Given the description of an element on the screen output the (x, y) to click on. 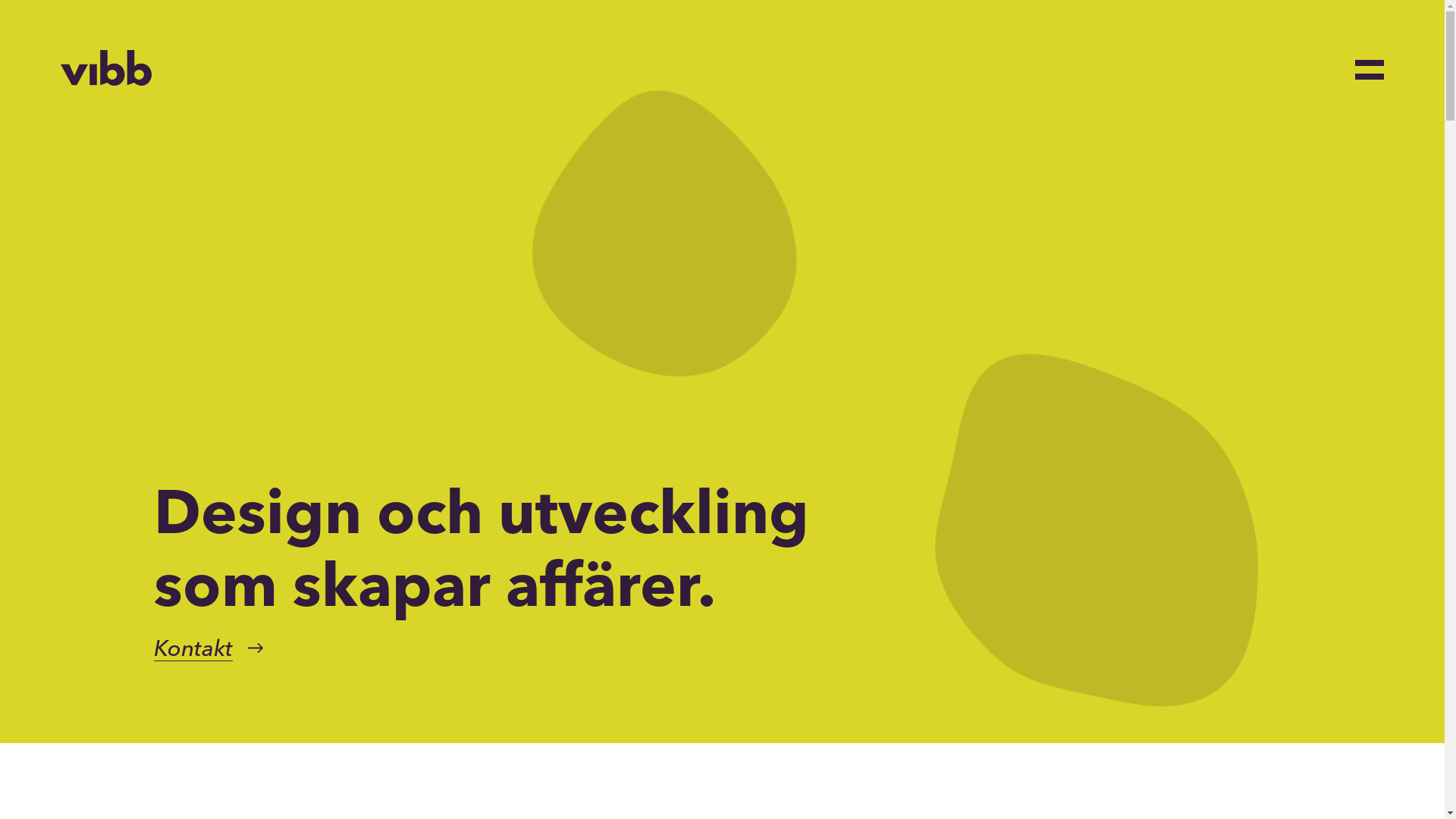
Kontakt Element type: text (192, 648)
